Given the description of an element on the screen output the (x, y) to click on. 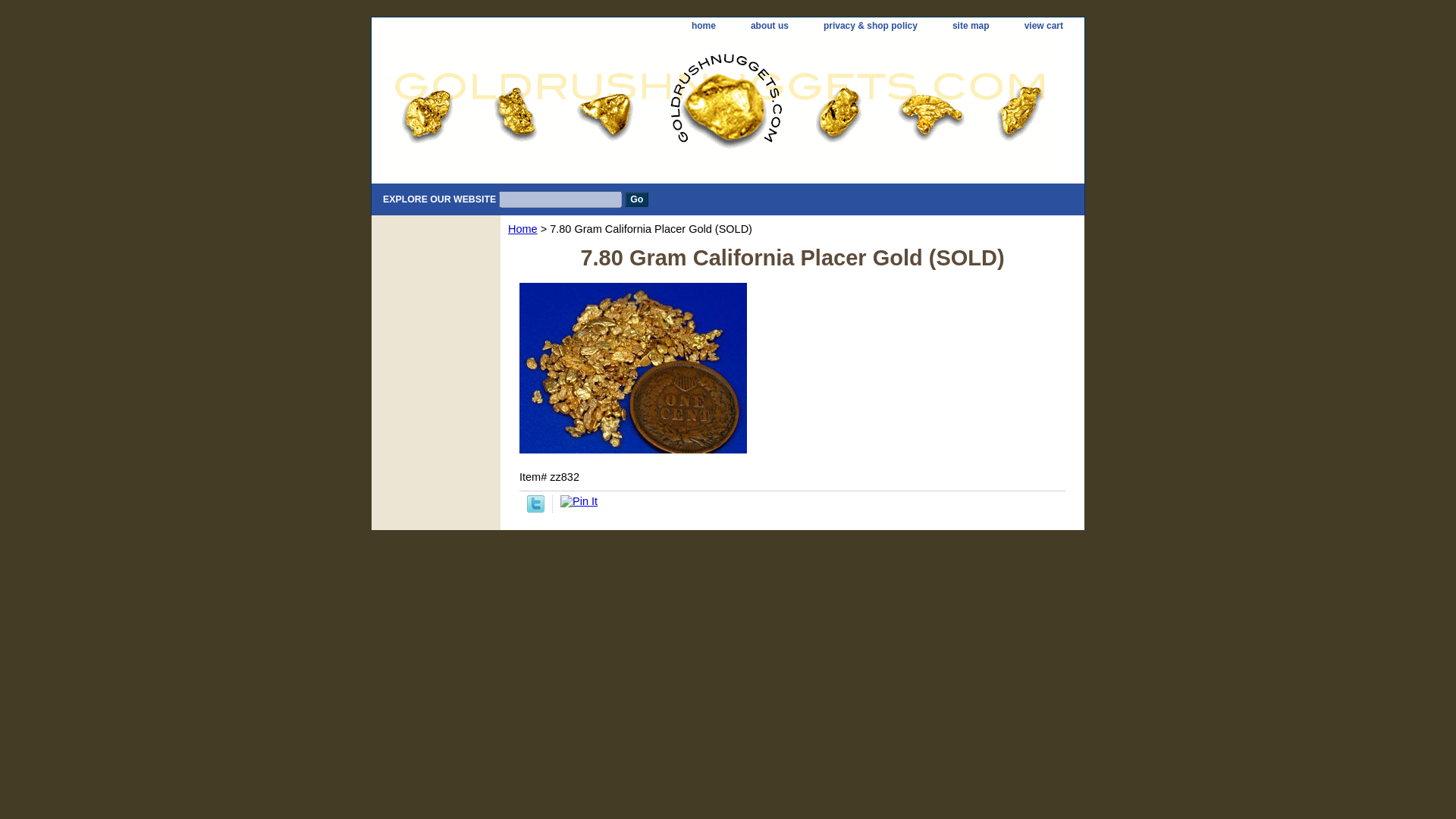
Pin It (578, 500)
about us (769, 26)
Tweet (535, 508)
Go (635, 199)
site map (970, 26)
home (703, 26)
view cart (1043, 26)
Go (635, 199)
Home (522, 228)
